Given the description of an element on the screen output the (x, y) to click on. 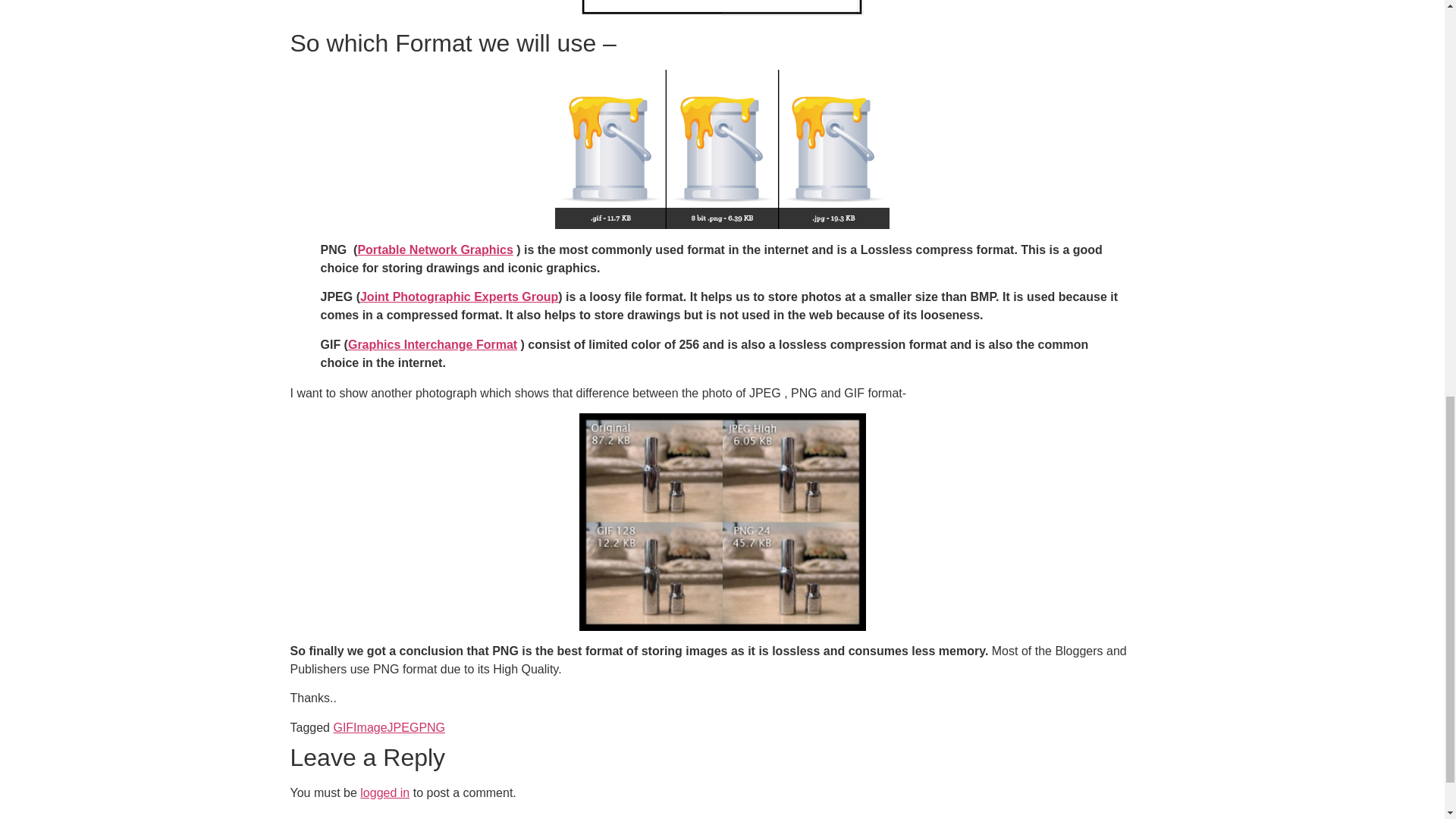
jpeg n png 1 (721, 149)
GIF (343, 727)
Portable Network Graphics (434, 249)
jpeg n png 123 photo (722, 521)
logged in (384, 792)
JPEG (403, 727)
Joint Photographic Experts Group (458, 296)
Graphics Interchange Format (431, 344)
jpeg and png (721, 8)
Image (370, 727)
PNG (432, 727)
